Given the description of an element on the screen output the (x, y) to click on. 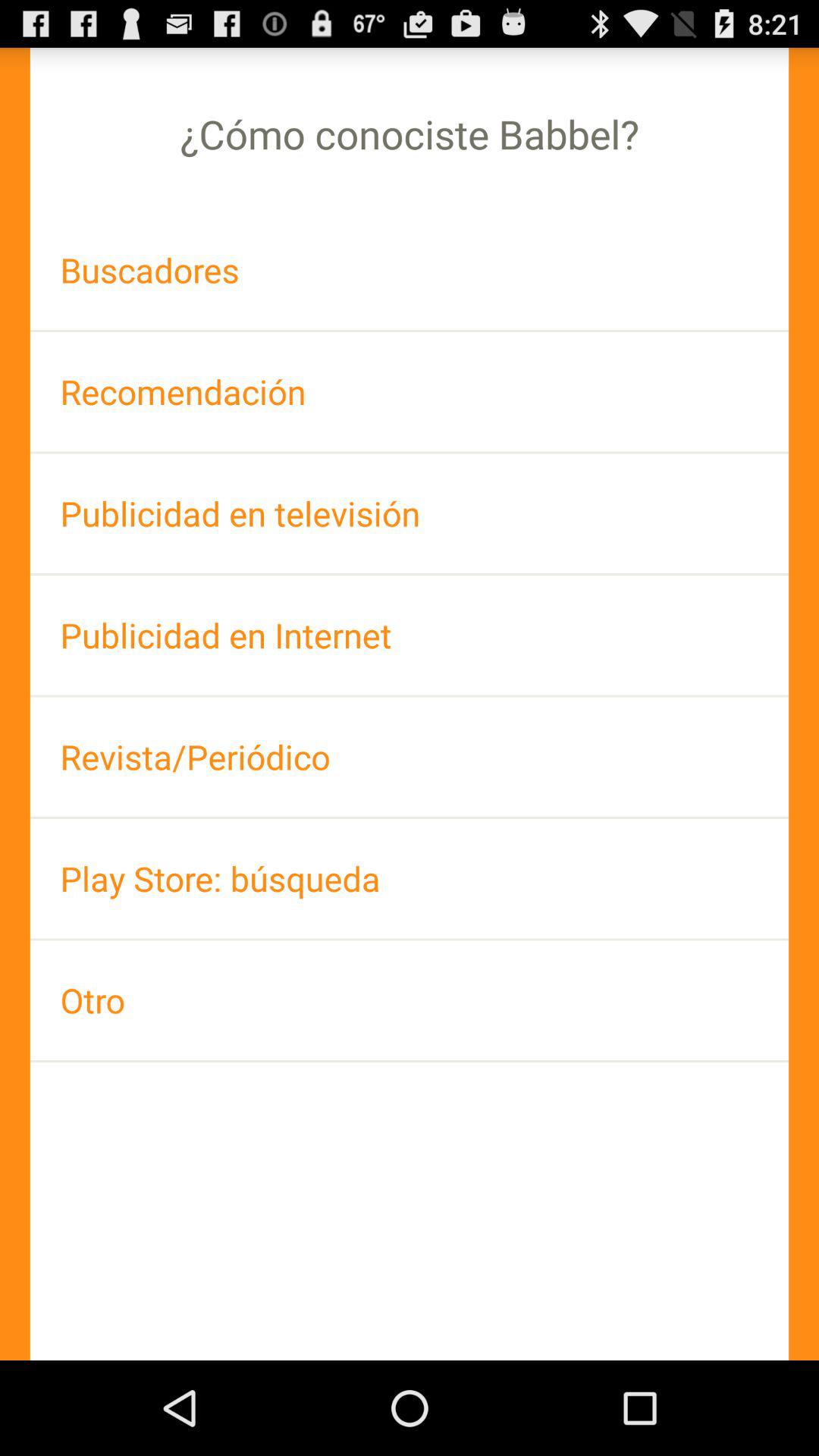
turn off the otro app (409, 1000)
